Given the description of an element on the screen output the (x, y) to click on. 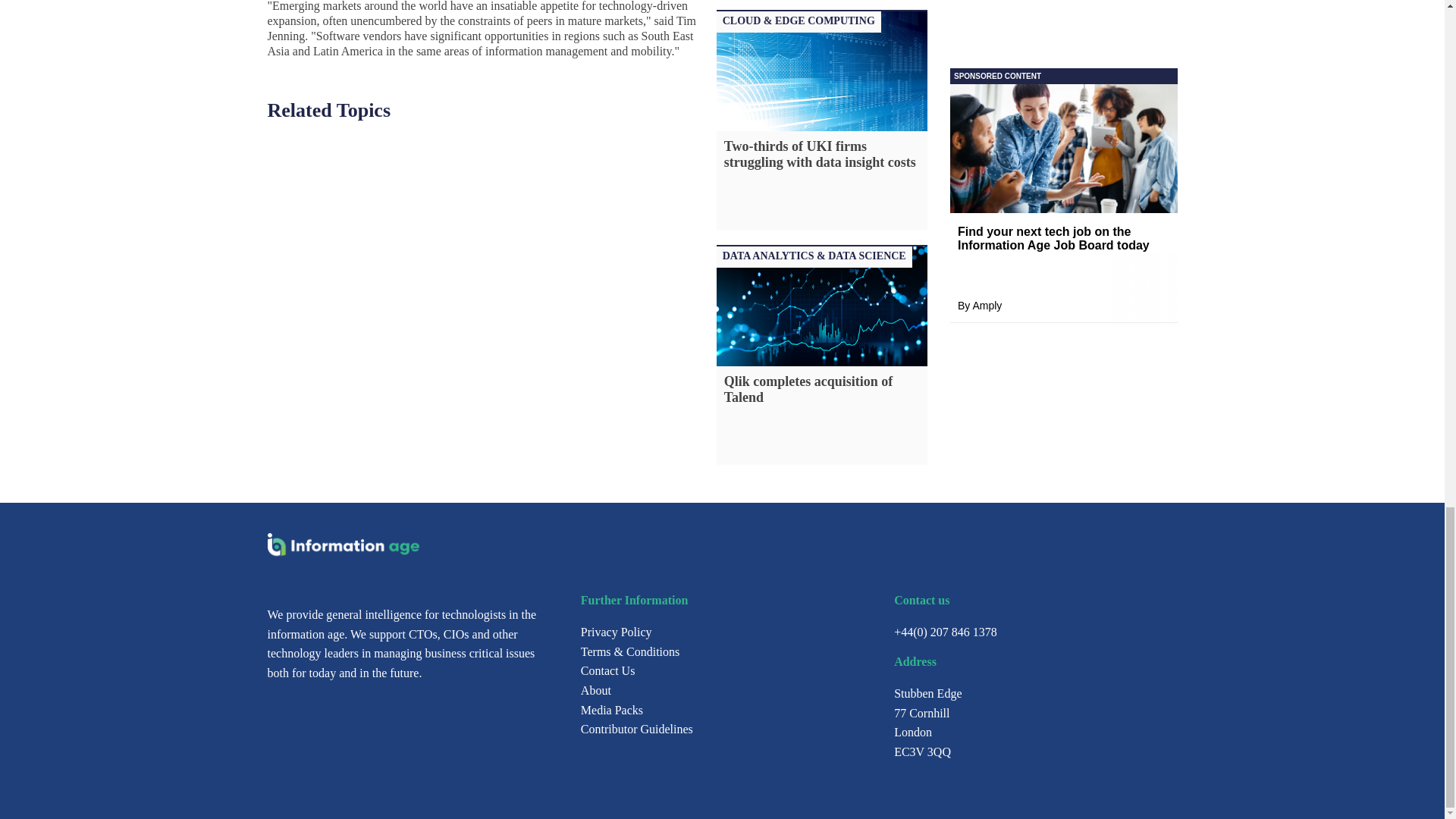
3rd party ad content (1062, 54)
